Given the description of an element on the screen output the (x, y) to click on. 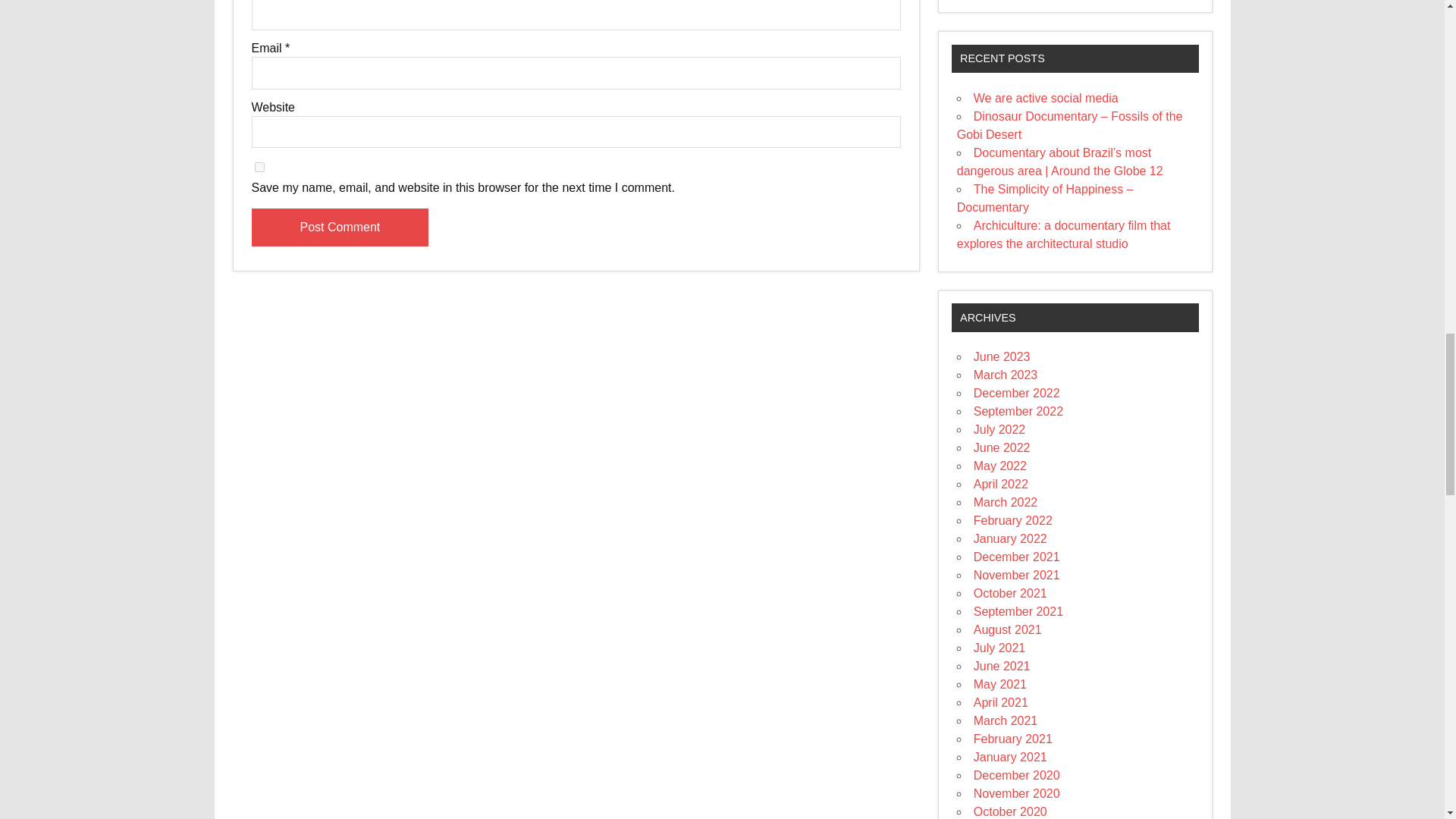
Post Comment (340, 227)
yes (259, 166)
Post Comment (340, 227)
